Given the description of an element on the screen output the (x, y) to click on. 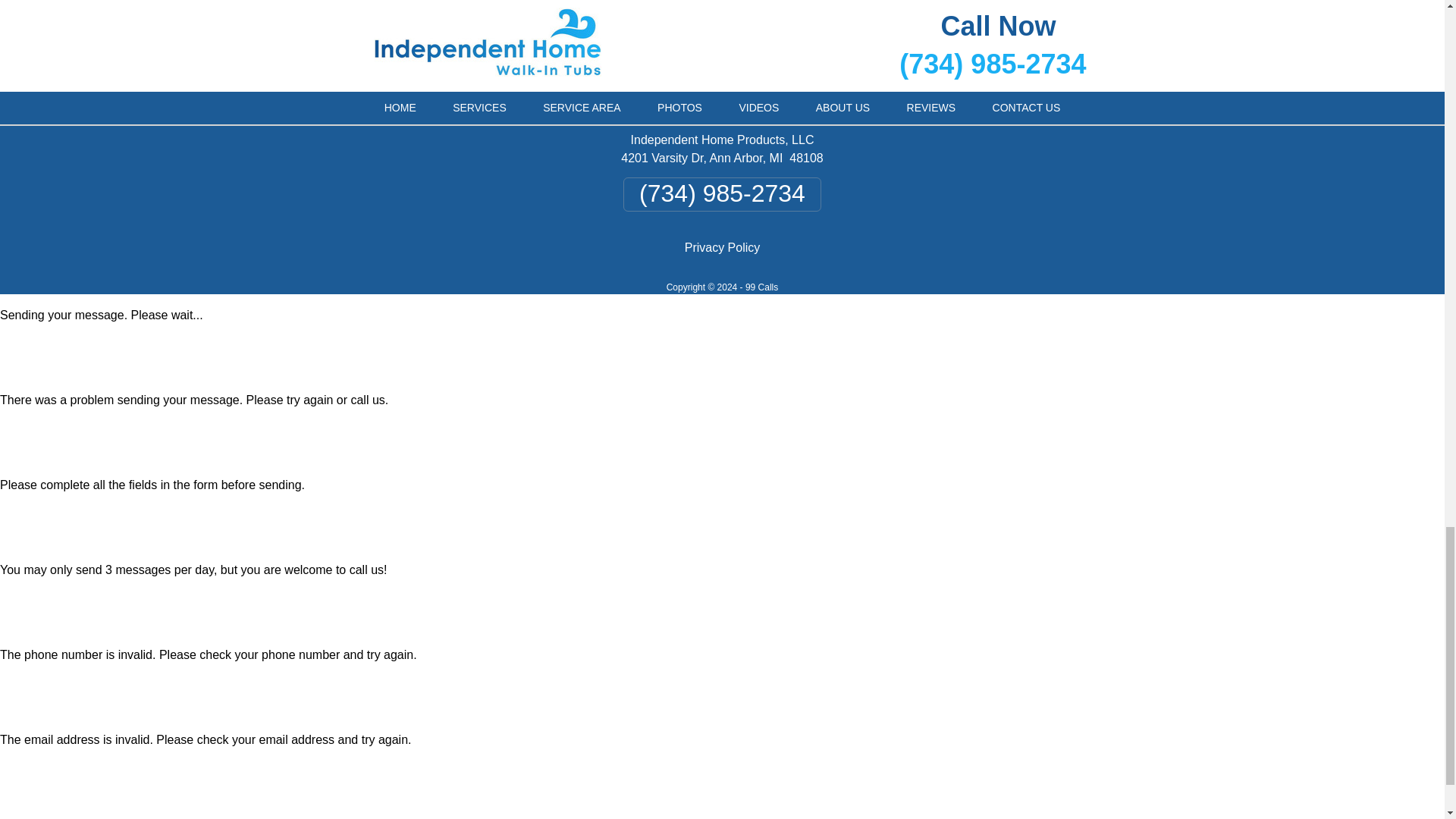
Yelp (675, 23)
Better Business Bureau (804, 23)
Facebook (592, 23)
